Given the description of an element on the screen output the (x, y) to click on. 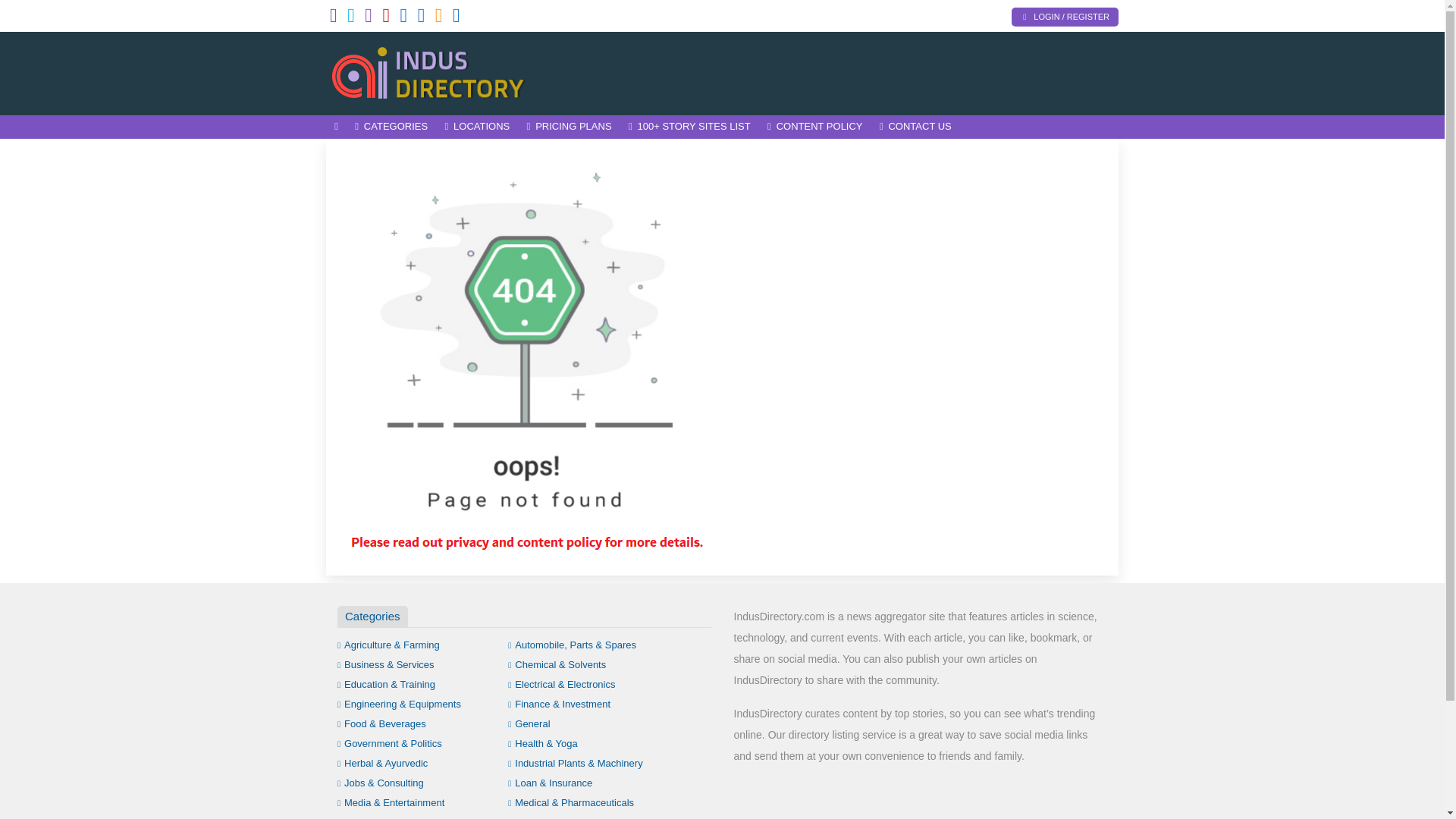
General (529, 723)
LOCATIONS (476, 126)
CATEGORIES (390, 126)
PRICING PLANS (569, 126)
CONTENT POLICY (814, 126)
CONTACT US (914, 126)
